Given the description of an element on the screen output the (x, y) to click on. 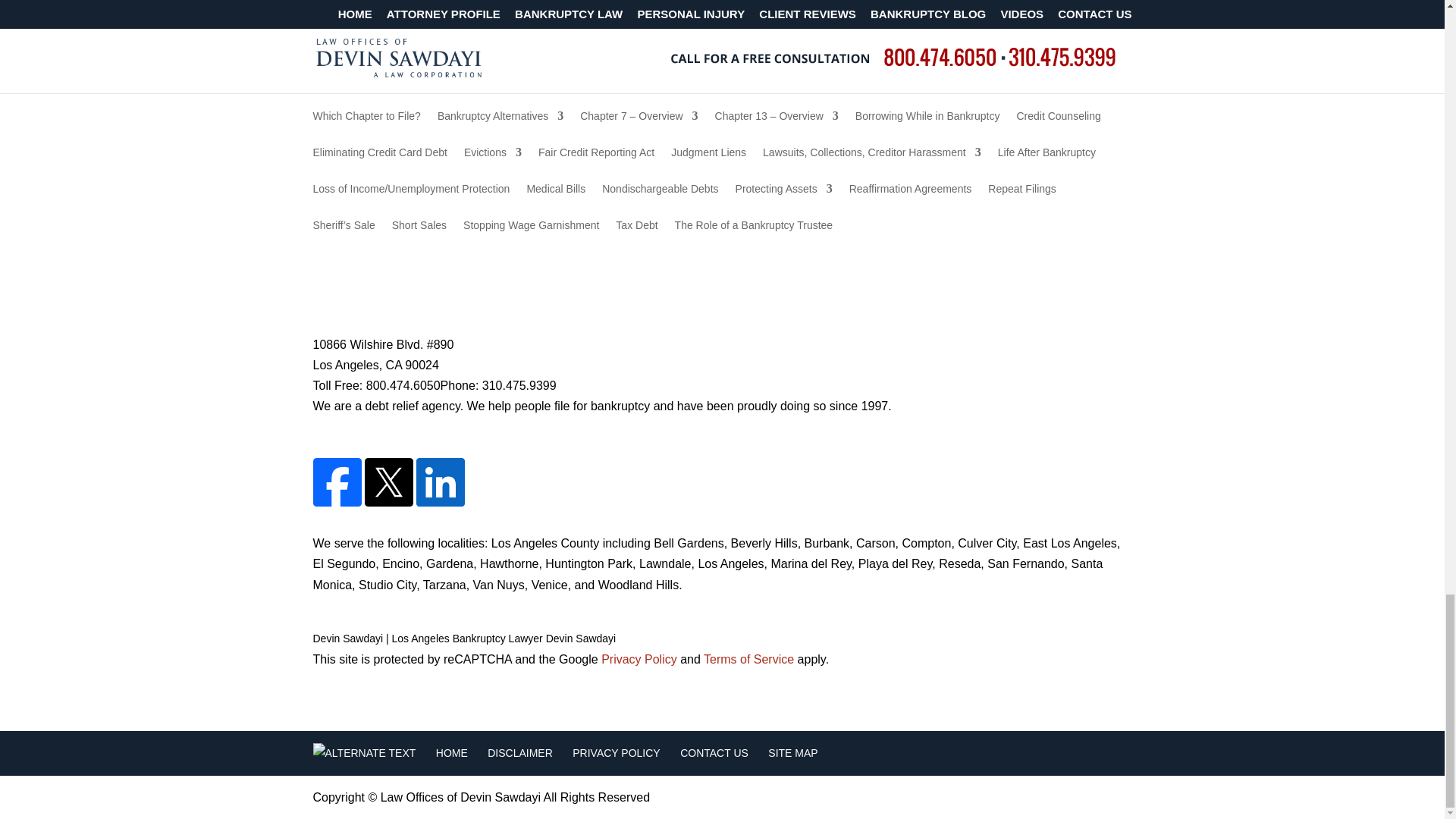
Facebook (337, 502)
LinkedIn (438, 502)
Twitter (386, 502)
